Given the description of an element on the screen output the (x, y) to click on. 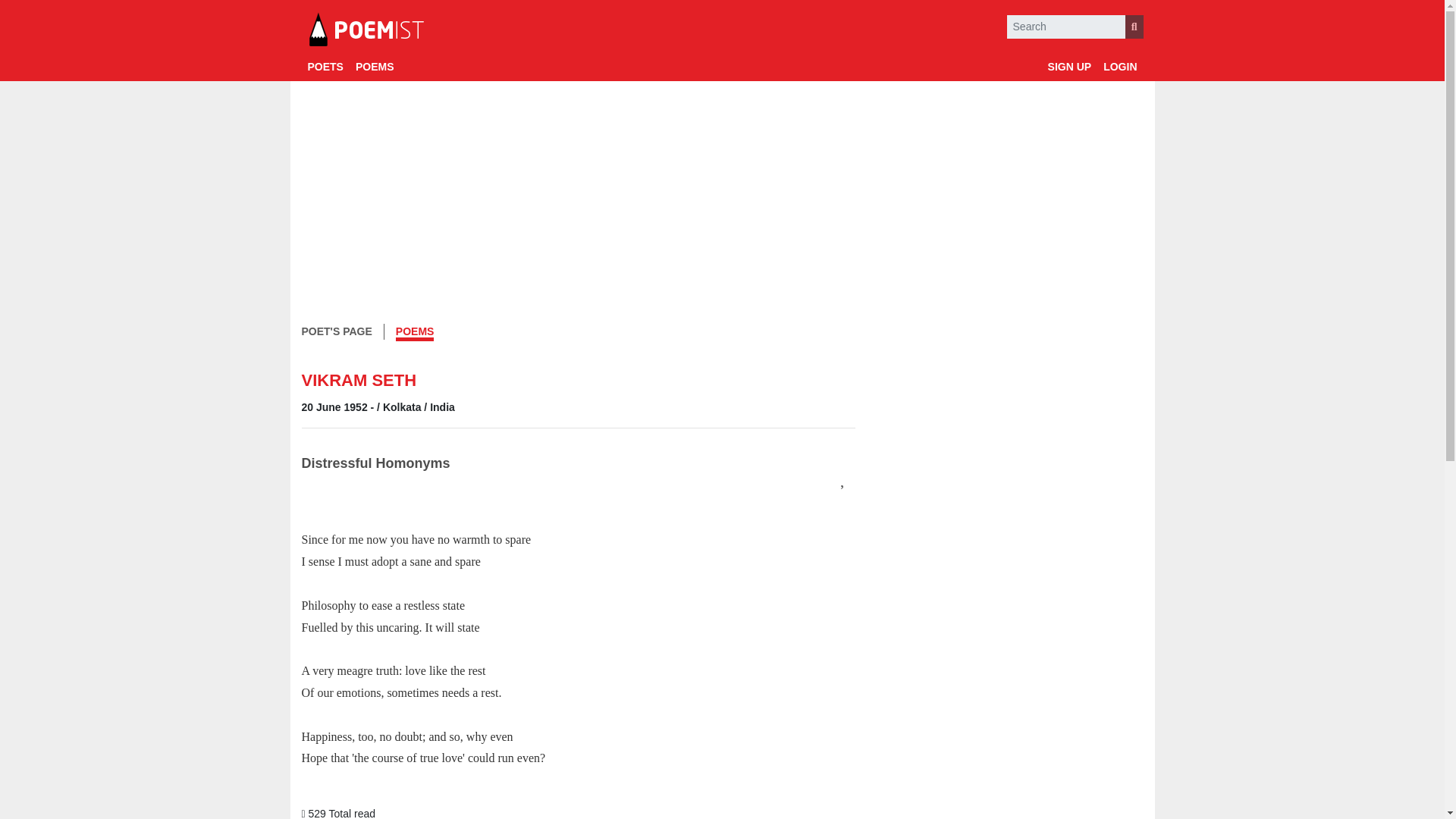
SIGN UP (1069, 67)
POEMS (374, 67)
POEMS (414, 333)
Poems of Vikram Seth (414, 333)
Poems (374, 67)
POET'S PAGE (336, 331)
Poemist - All About Poems and Poetry (365, 30)
Sign Up (1069, 67)
Poets (325, 67)
Login (1119, 67)
Vikram Seth (336, 331)
POETS (325, 67)
LOGIN (1119, 67)
